Given the description of an element on the screen output the (x, y) to click on. 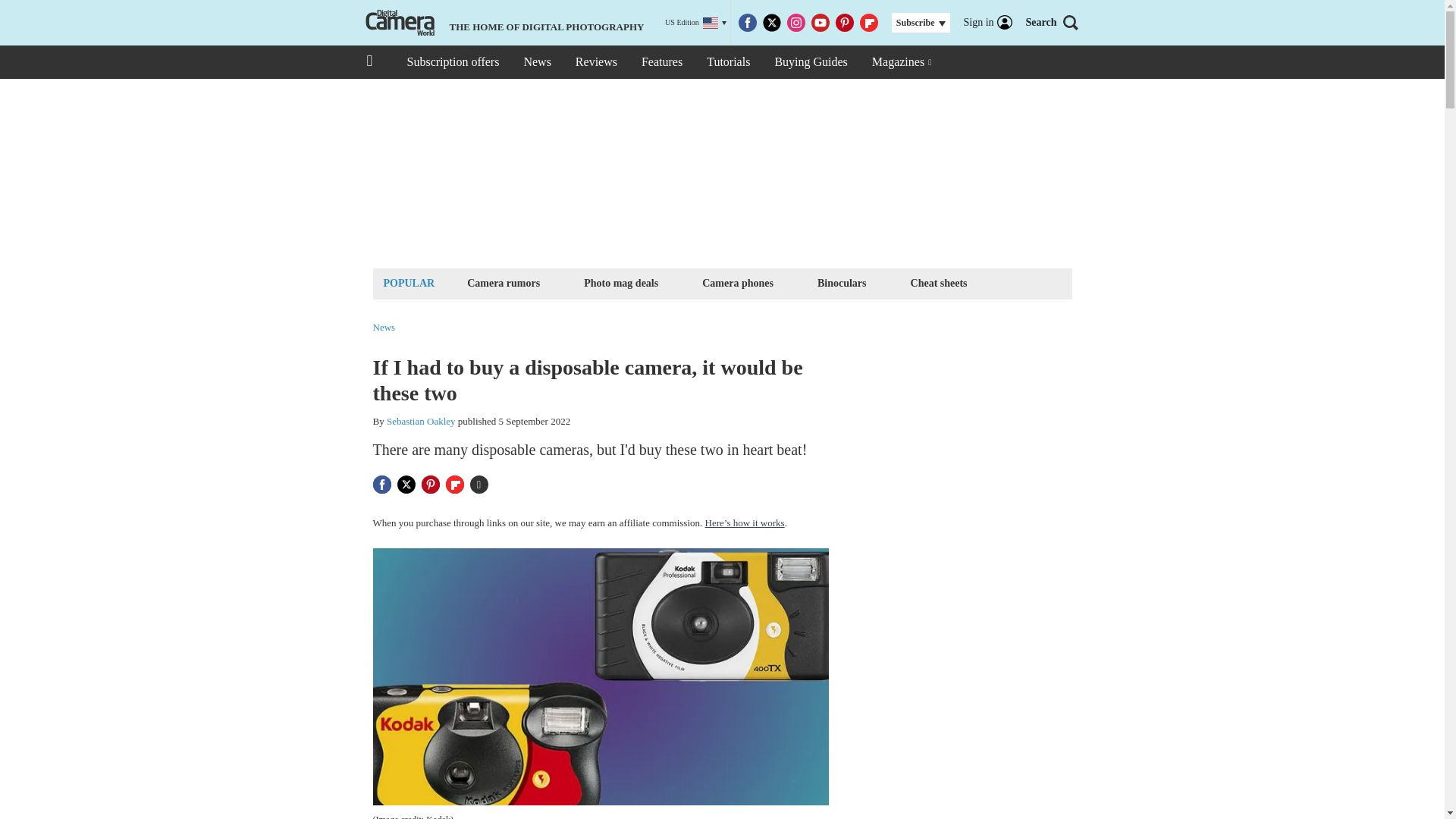
Tutorials (727, 61)
Reviews (595, 61)
Cheat sheets (938, 282)
Camera phones (737, 282)
News (536, 61)
Subscription offers (452, 61)
Photo mag deals (620, 282)
Camera rumors (502, 282)
US Edition (695, 22)
THE HOME OF DIGITAL PHOTOGRAPHY (503, 22)
